Given the description of an element on the screen output the (x, y) to click on. 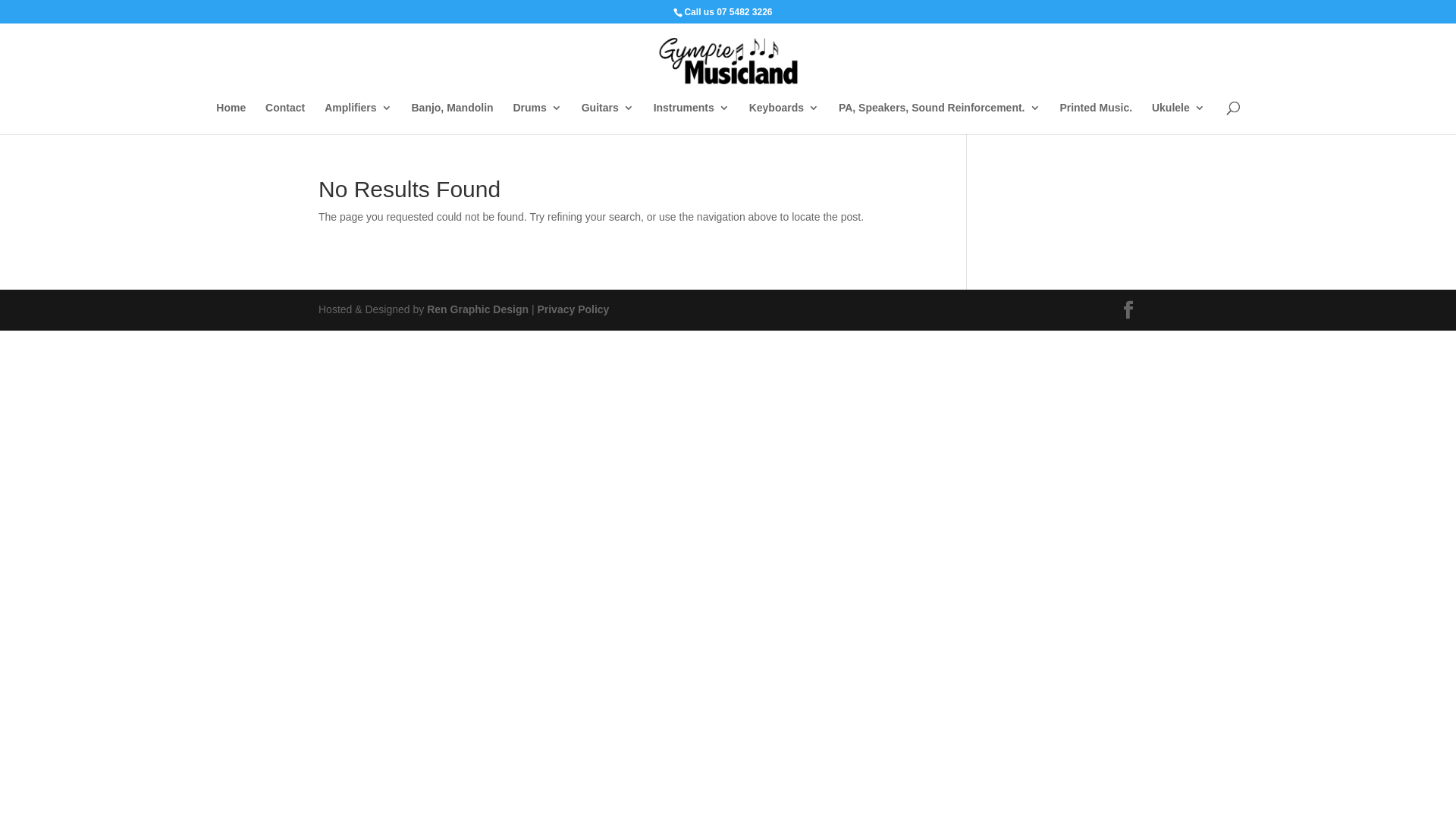
Call us 07 5482 3226 Element type: text (727, 11)
Banjo, Mandolin Element type: text (451, 118)
Guitars Element type: text (607, 118)
Instruments Element type: text (691, 118)
Ukulele Element type: text (1177, 118)
PA, Speakers, Sound Reinforcement. Element type: text (939, 118)
Printed Music. Element type: text (1095, 118)
Contact Element type: text (284, 118)
Privacy Policy Element type: text (572, 309)
Keyboards Element type: text (784, 118)
Ren Graphic Design Element type: text (477, 309)
Amplifiers Element type: text (357, 118)
Home Element type: text (230, 118)
Drums Element type: text (536, 118)
